Given the description of an element on the screen output the (x, y) to click on. 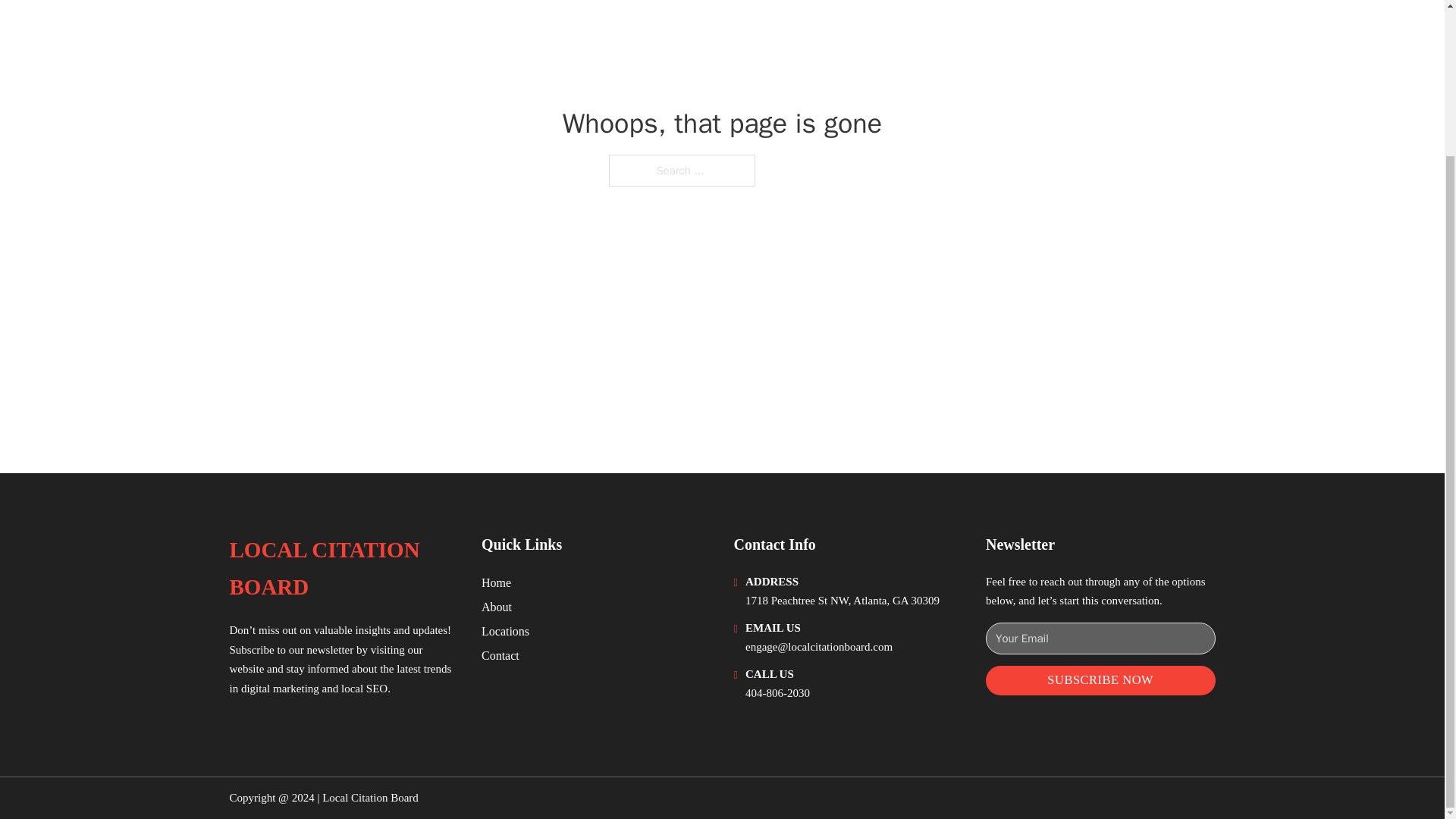
LOCAL CITATION BOARD (343, 568)
About (496, 607)
Home (496, 582)
SUBSCRIBE NOW (1100, 680)
404-806-2030 (777, 693)
Locations (505, 630)
Contact (500, 655)
